Given the description of an element on the screen output the (x, y) to click on. 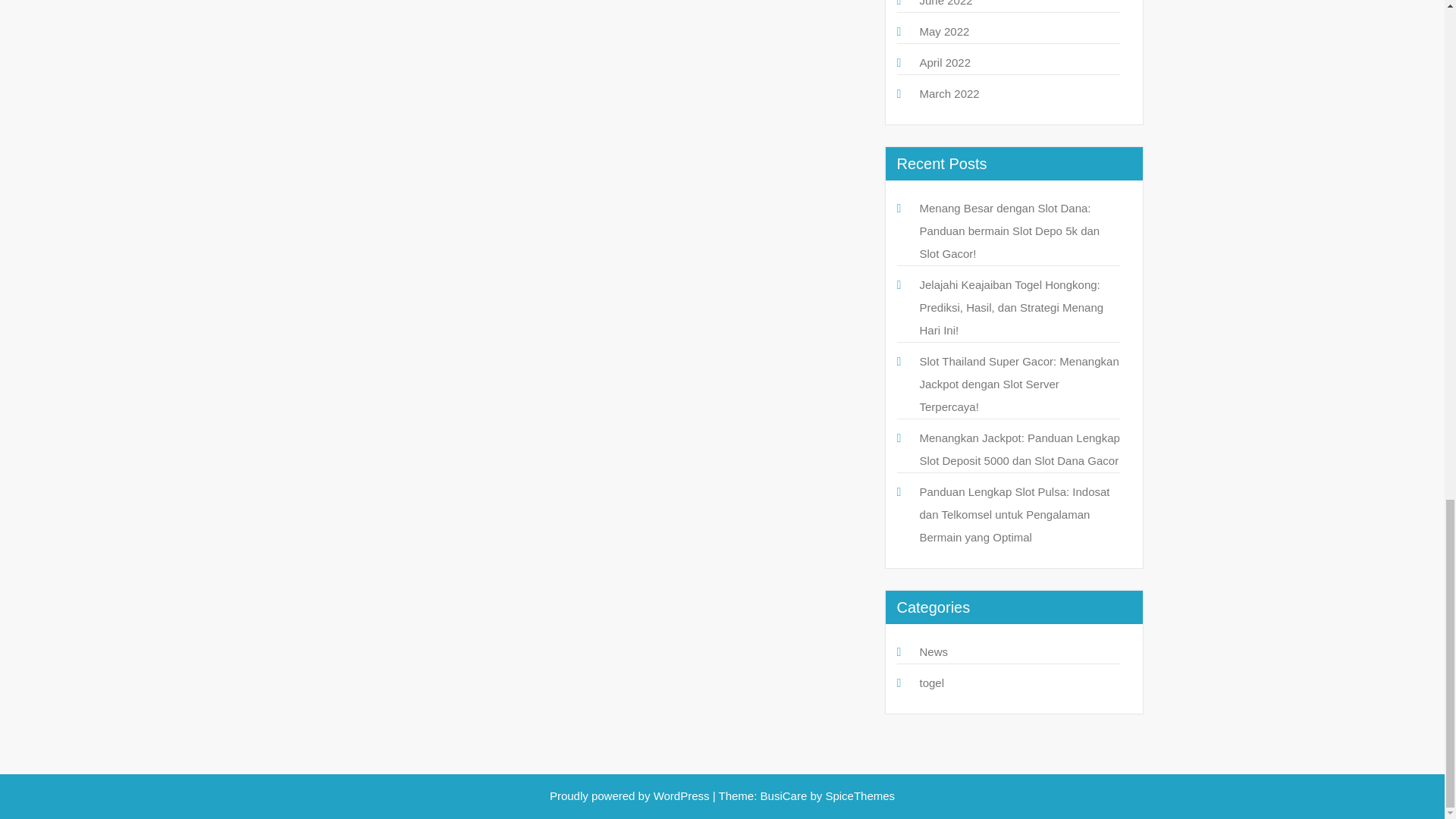
June 2022 (945, 3)
May 2022 (943, 31)
April 2022 (944, 62)
